Given the description of an element on the screen output the (x, y) to click on. 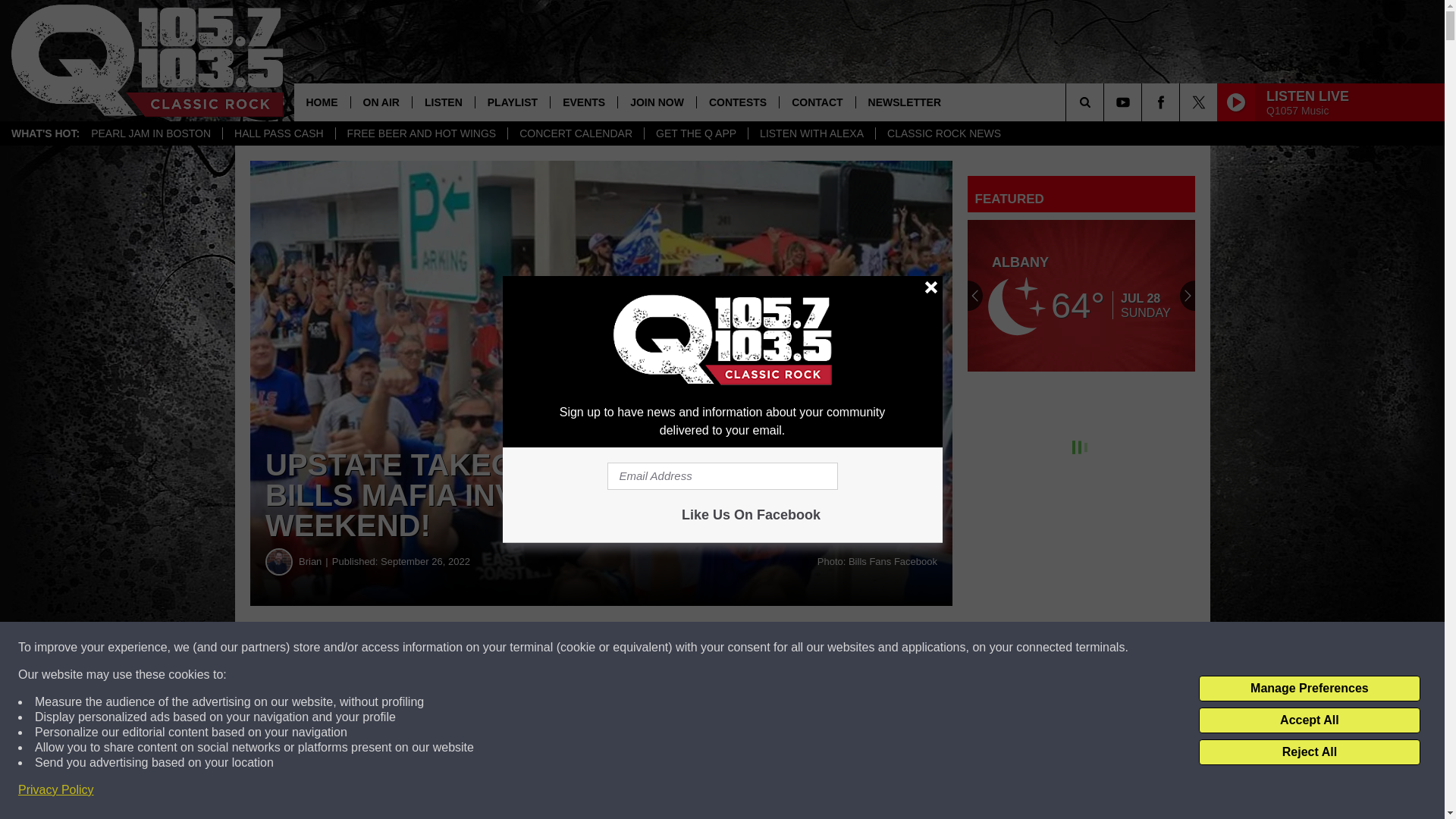
Accept All (1309, 720)
JOIN NOW (656, 102)
Email Address (722, 475)
PEARL JAM IN BOSTON (151, 133)
CLASSIC ROCK NEWS (943, 133)
ON AIR (381, 102)
SEARCH (1106, 102)
HOME (322, 102)
HALL PASS CASH (278, 133)
PLAYLIST (512, 102)
Reject All (1309, 751)
Albany Weather (1081, 295)
Share on Twitter (741, 647)
EVENTS (583, 102)
GET THE Q APP (695, 133)
